Given the description of an element on the screen output the (x, y) to click on. 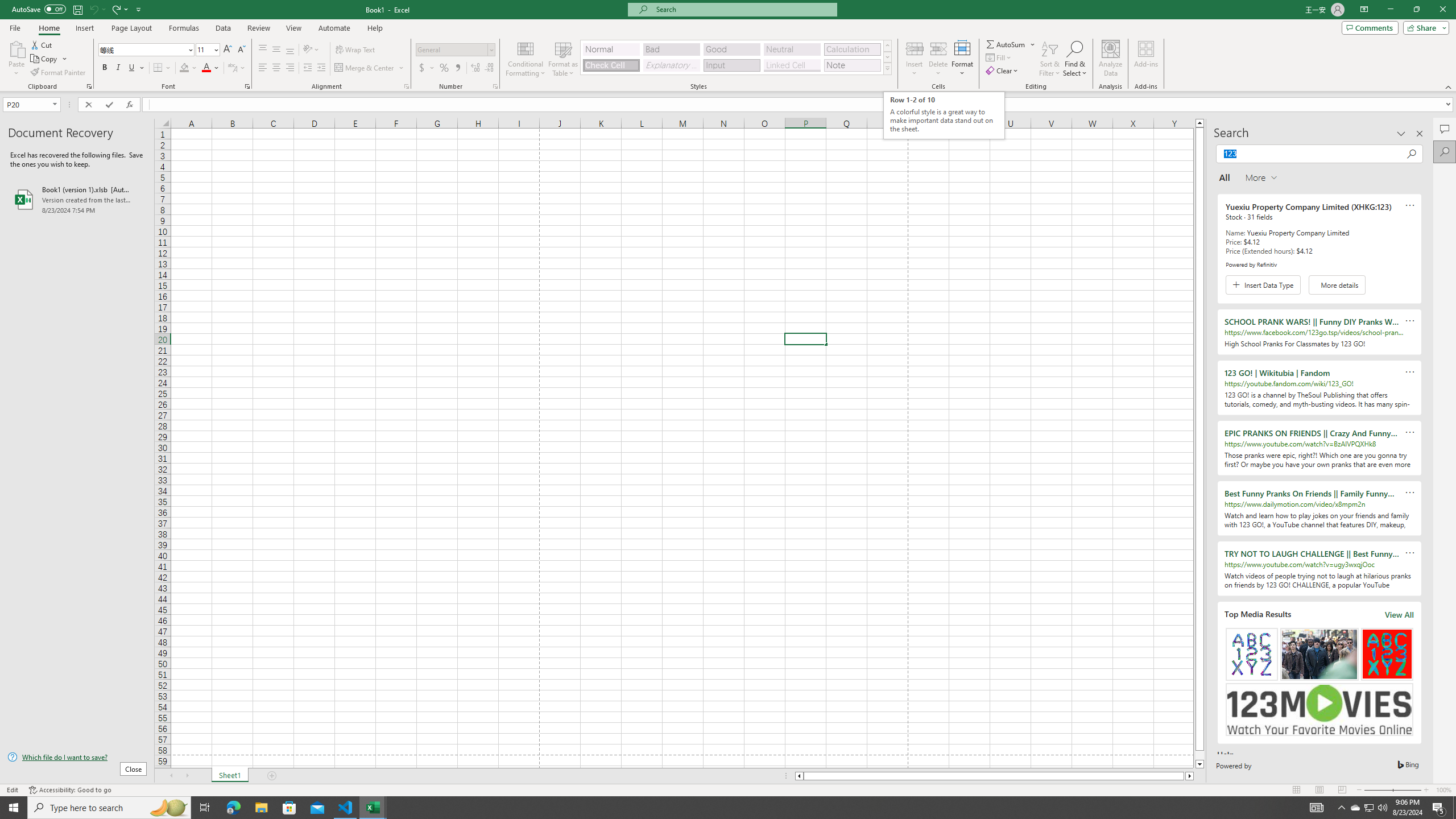
Check Cell (611, 65)
Font (147, 49)
Middle Align (276, 49)
Top Align (262, 49)
Number Format (451, 49)
Office Clipboard... (88, 85)
Format Cell Number (494, 85)
Input (731, 65)
